Given the description of an element on the screen output the (x, y) to click on. 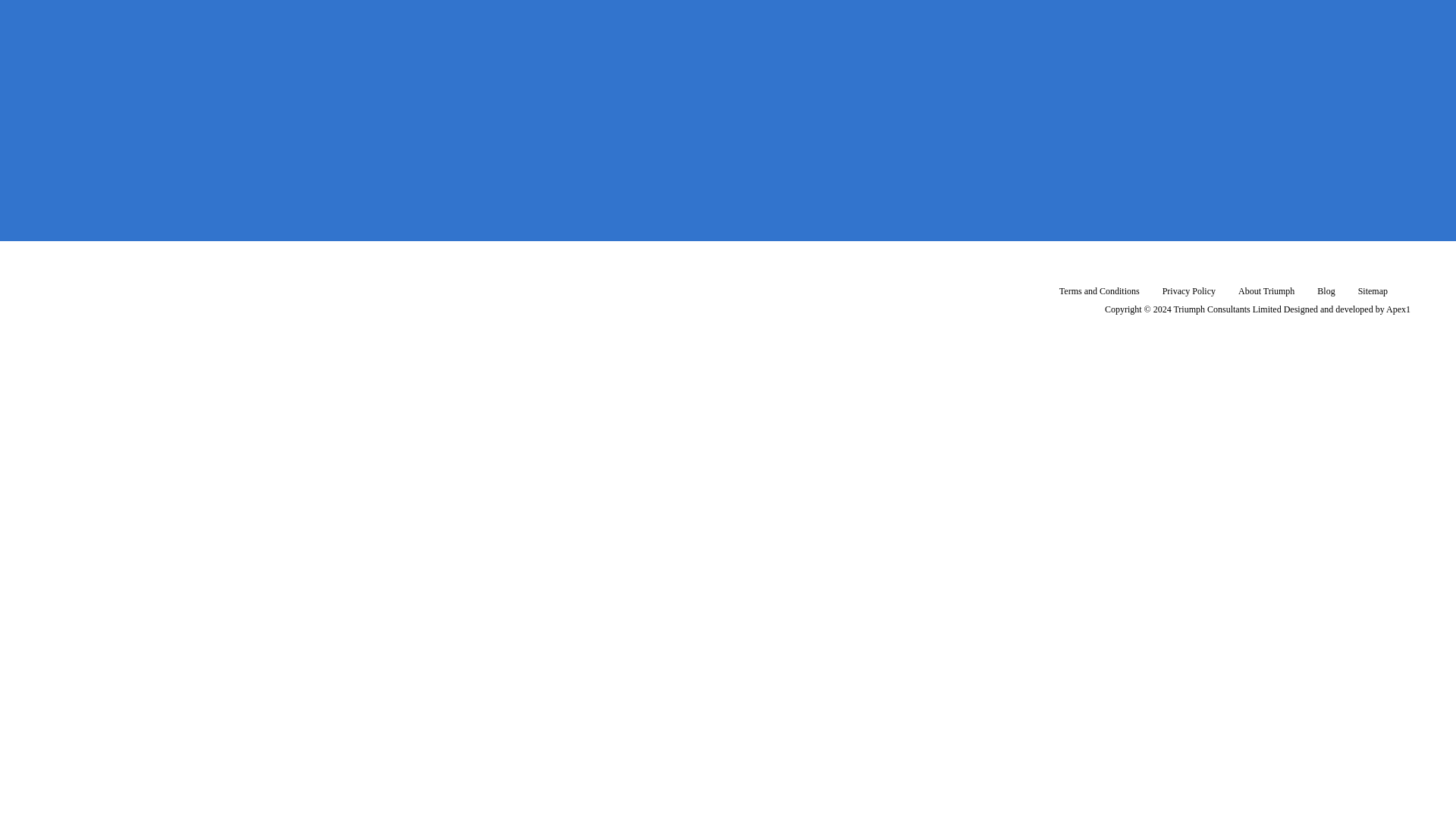
Terms and Conditions (1099, 290)
Apex1 (1398, 308)
Privacy Policy (1188, 290)
Sitemap (1372, 290)
Blog (1326, 290)
About Triumph (1266, 290)
